Given the description of an element on the screen output the (x, y) to click on. 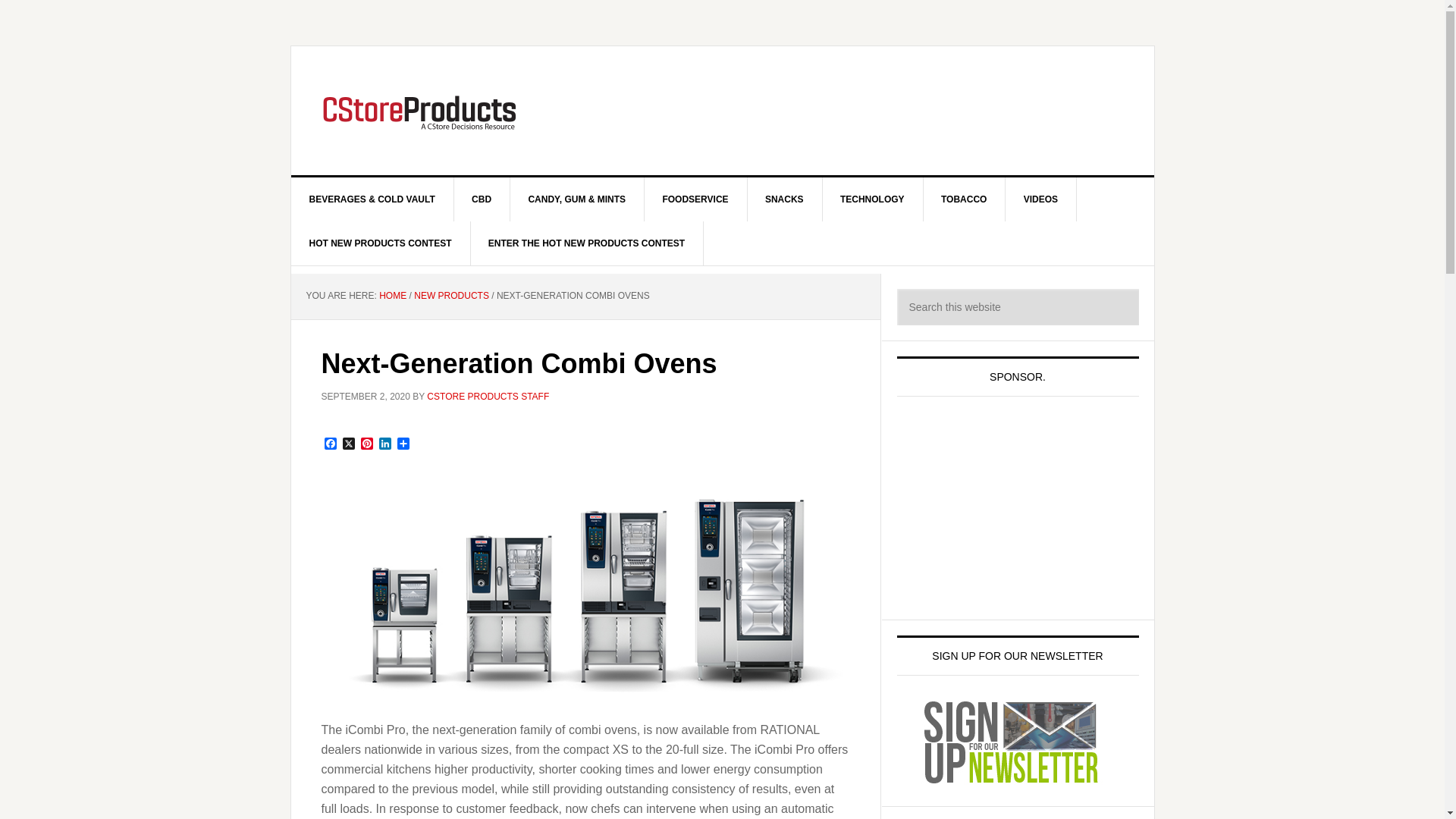
C-STORE PRODUCTS (419, 110)
LinkedIn (384, 444)
VIDEOS (1041, 199)
Facebook (330, 444)
NEW PRODUCTS (451, 295)
Pinterest (366, 444)
LinkedIn (384, 444)
X (348, 444)
CSTORE PRODUCTS STAFF (487, 396)
HOME (392, 295)
3rd party ad content (1010, 509)
FOODSERVICE (694, 199)
X (348, 444)
TECHNOLOGY (872, 199)
